Given the description of an element on the screen output the (x, y) to click on. 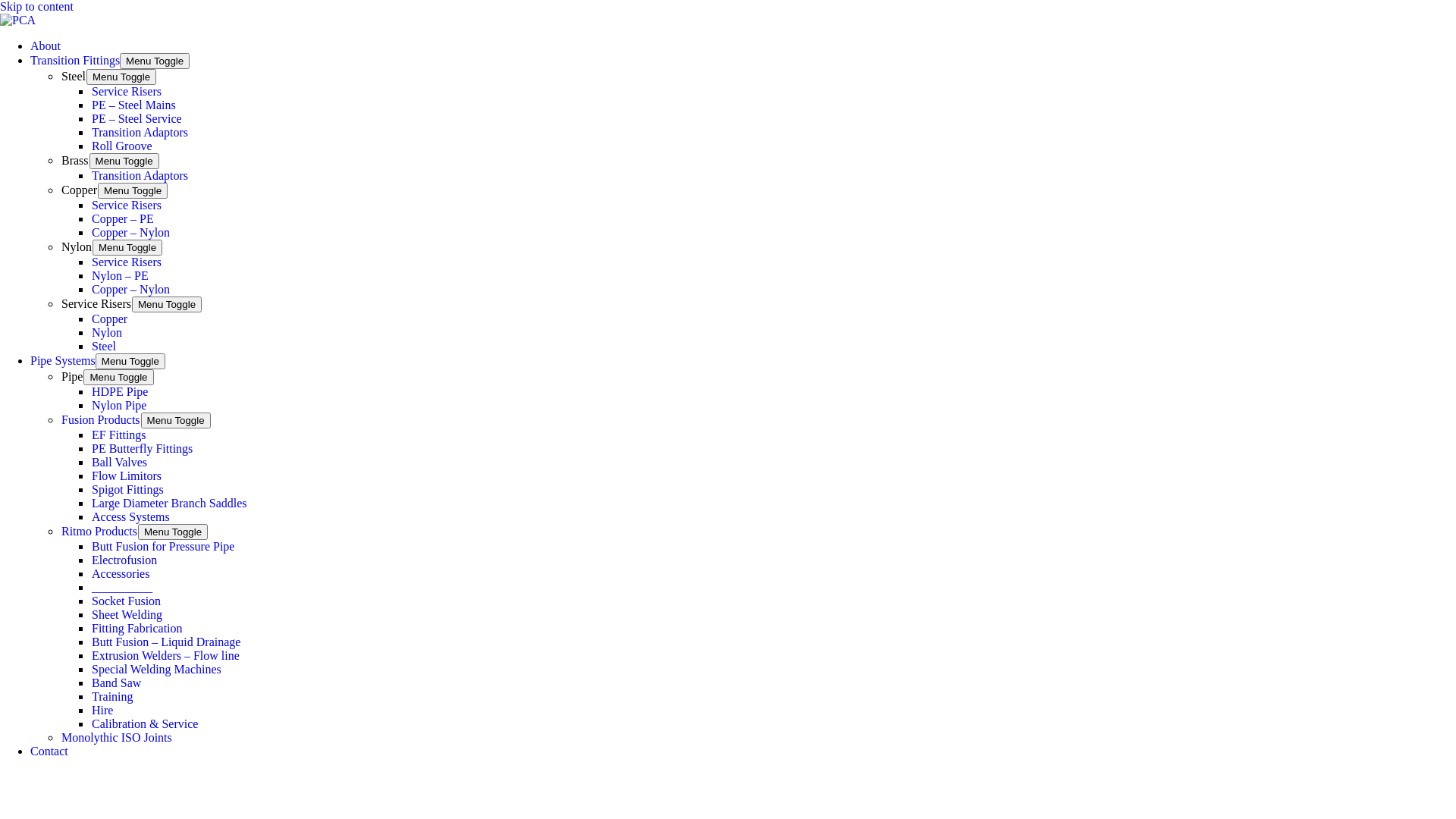
Menu Toggle Element type: text (172, 531)
Nylon Pipe Element type: text (119, 405)
Hire Element type: text (102, 709)
Service Risers Element type: text (126, 91)
Pipe Systems Element type: text (62, 360)
Menu Toggle Element type: text (124, 161)
Steel Element type: text (103, 345)
Special Welding Machines Element type: text (156, 669)
Roll Groove Element type: text (122, 145)
Band Saw Element type: text (116, 682)
Ritmo Products Element type: text (99, 531)
Menu Toggle Element type: text (130, 361)
HDPE Pipe Element type: text (119, 391)
Transition Adaptors Element type: text (139, 132)
Transition Adaptors Element type: text (139, 175)
Training Element type: text (112, 696)
About Element type: text (45, 45)
Ball Valves Element type: text (119, 462)
Electrofusion Element type: text (124, 559)
Menu Toggle Element type: text (166, 304)
Fitting Fabrication Element type: text (137, 628)
Menu Toggle Element type: text (118, 377)
Sheet Welding Element type: text (127, 614)
Calibration & Service Element type: text (144, 723)
Monolythic ISO Joints Element type: text (116, 737)
Menu Toggle Element type: text (154, 61)
Menu Toggle Element type: text (175, 420)
Accessories Element type: text (120, 573)
Menu Toggle Element type: text (132, 190)
Flow Limitors Element type: text (126, 475)
Menu Toggle Element type: text (121, 76)
Copper Element type: text (109, 318)
Fusion Products Element type: text (100, 419)
Contact Element type: text (49, 750)
Nylon Element type: text (106, 332)
Socket Fusion Element type: text (126, 600)
Menu Toggle Element type: text (127, 247)
Service Risers Element type: text (126, 204)
EF Fittings Element type: text (119, 434)
PE Butterfly Fittings Element type: text (142, 448)
Transition Fittings Element type: text (74, 59)
Large Diameter Branch Saddles Element type: text (169, 502)
__________ Element type: text (122, 587)
Spigot Fittings Element type: text (127, 489)
Butt Fusion for Pressure Pipe Element type: text (163, 546)
Skip to content Element type: text (36, 6)
Access Systems Element type: text (130, 516)
Service Risers Element type: text (126, 261)
